Given the description of an element on the screen output the (x, y) to click on. 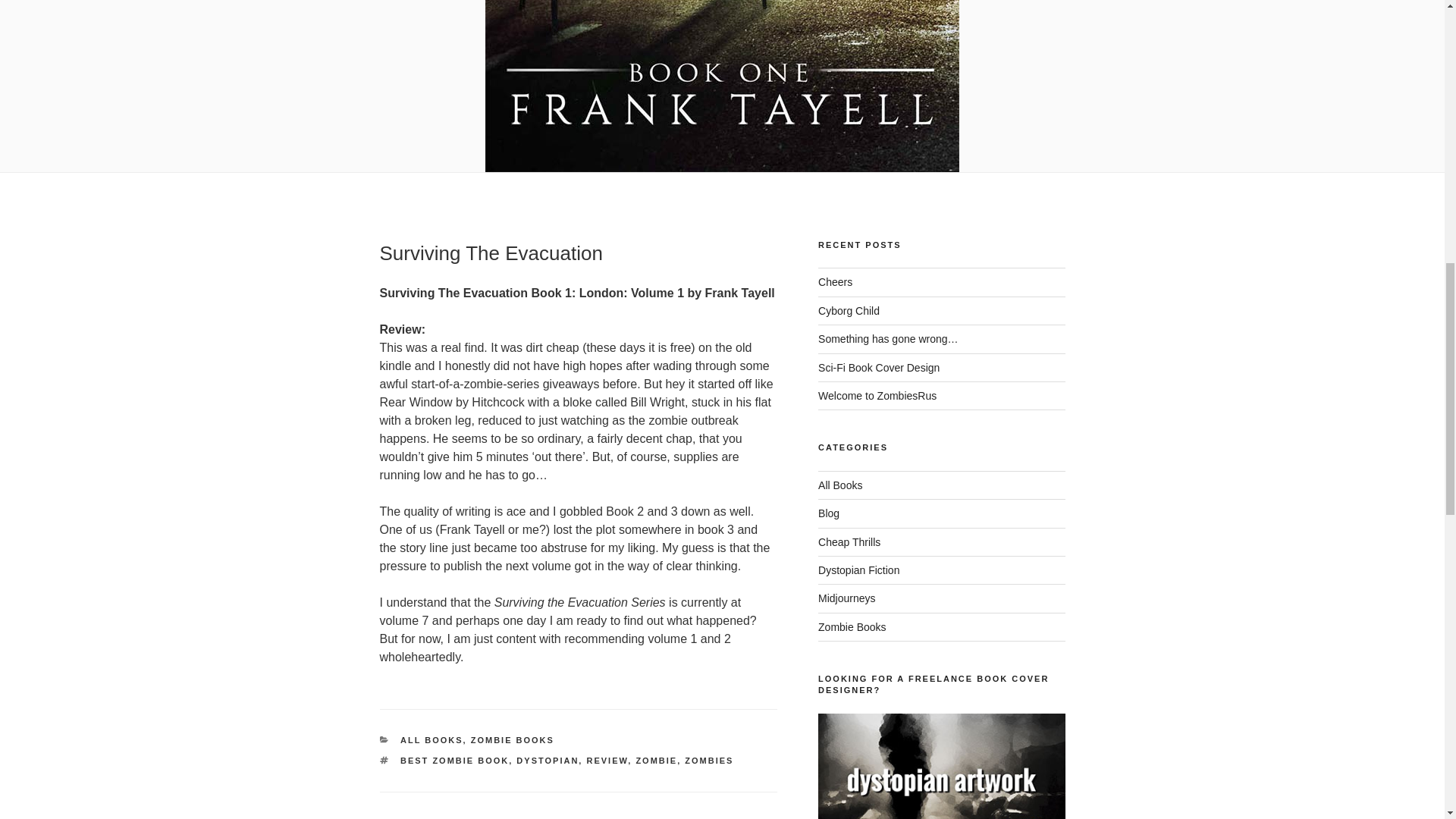
ALL BOOKS (431, 739)
REVIEW (606, 759)
Dystopian Fiction (858, 570)
Cheers (834, 282)
BEST ZOMBIE BOOK (454, 759)
Looking for a freelance book cover designer? (941, 766)
ZOMBIE BOOKS (512, 739)
Blog (829, 512)
Cheap Thrills (849, 541)
Sci-Fi Book Cover Design (878, 367)
Cyborg Child (848, 310)
Midjourneys (846, 598)
ZOMBIE (655, 759)
DYSTOPIAN (547, 759)
Zombie Books (851, 626)
